Given the description of an element on the screen output the (x, y) to click on. 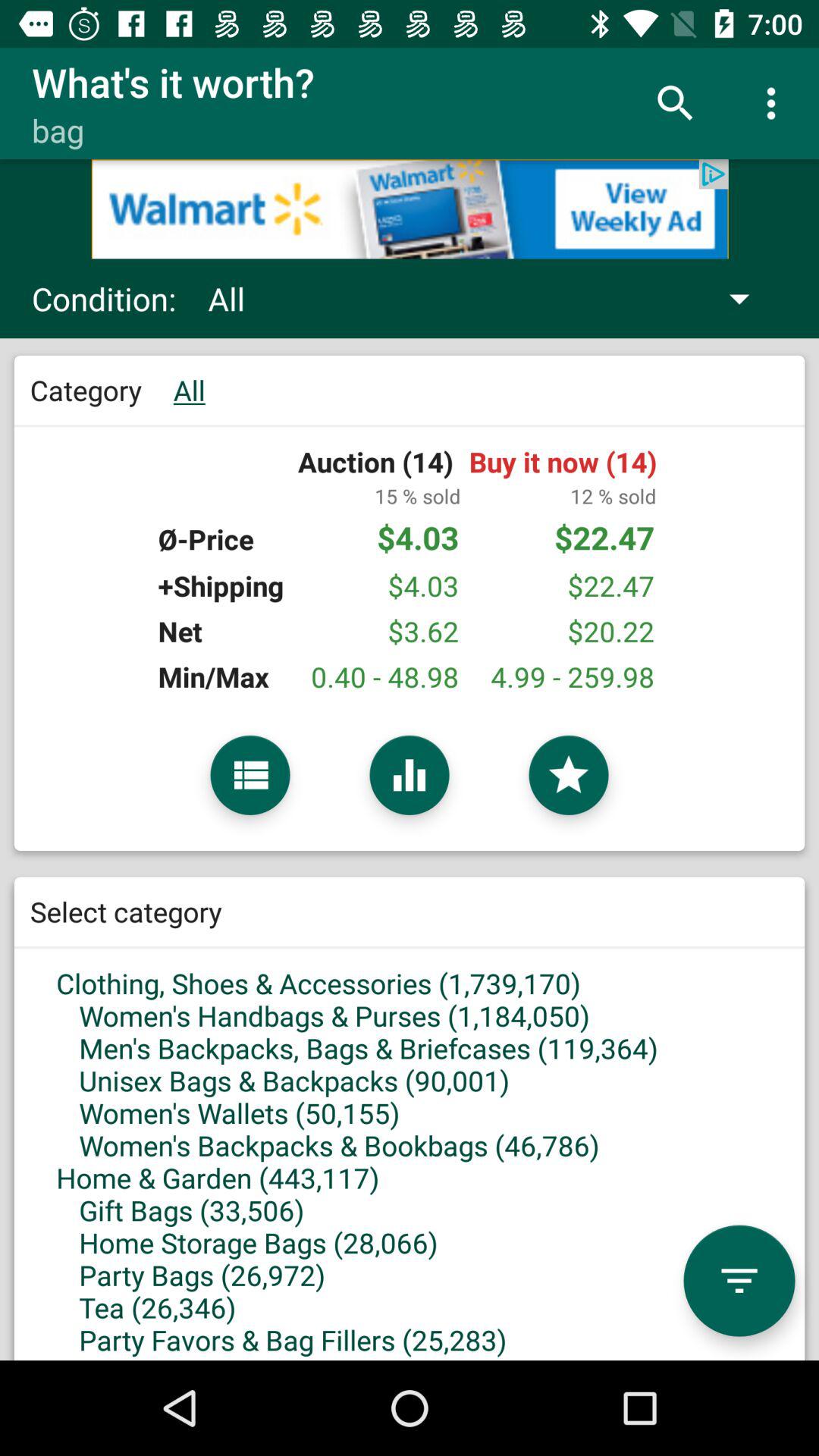
shows star symbol (568, 774)
